Given the description of an element on the screen output the (x, y) to click on. 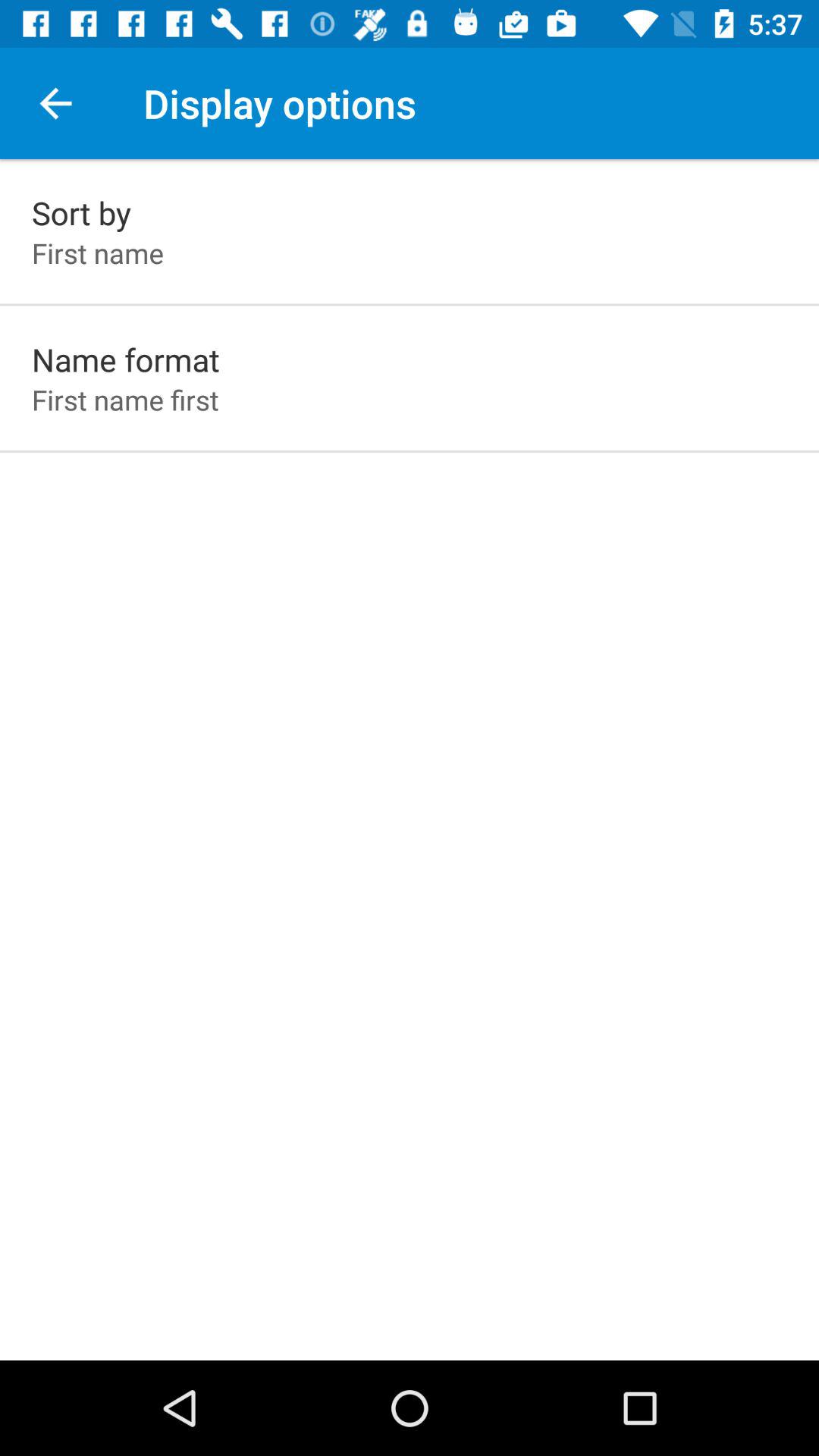
scroll to sort by icon (81, 212)
